Given the description of an element on the screen output the (x, y) to click on. 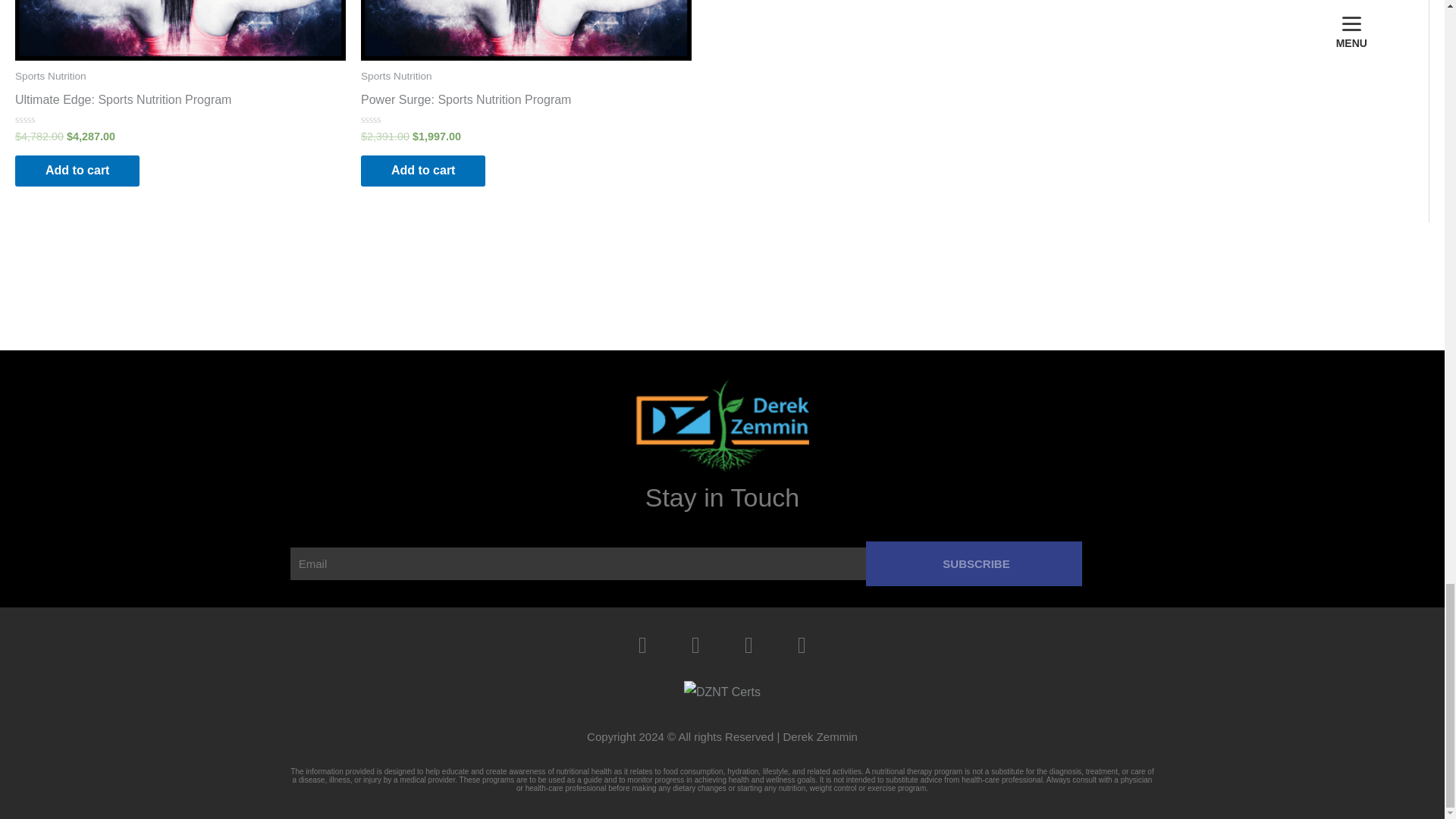
DZNT Certs (722, 691)
Add to cart (76, 170)
Ultimate Edge: Sports Nutrition Program (122, 103)
SUBSCRIBE (973, 563)
Add to cart (422, 170)
Power Surge: Sports Nutrition Program (465, 103)
